Given the description of an element on the screen output the (x, y) to click on. 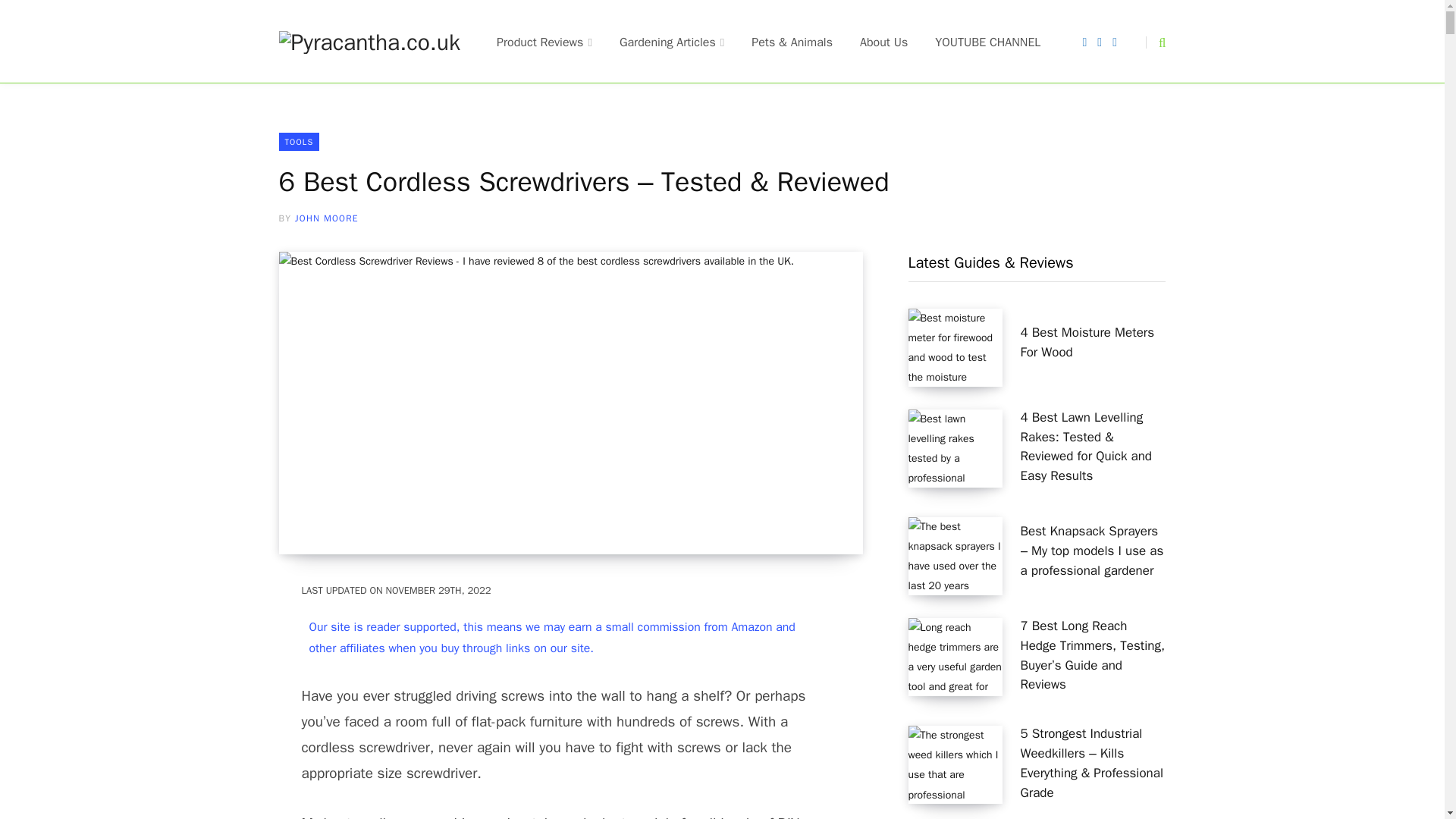
Posts by John Moore (326, 218)
Pyracantha.co.uk (370, 42)
Gardening Articles (671, 41)
Product Reviews (544, 41)
About Us (883, 41)
YOUTUBE CHANNEL (987, 41)
Search (1155, 42)
TOOLS (299, 141)
JOHN MOORE (326, 218)
